Given the description of an element on the screen output the (x, y) to click on. 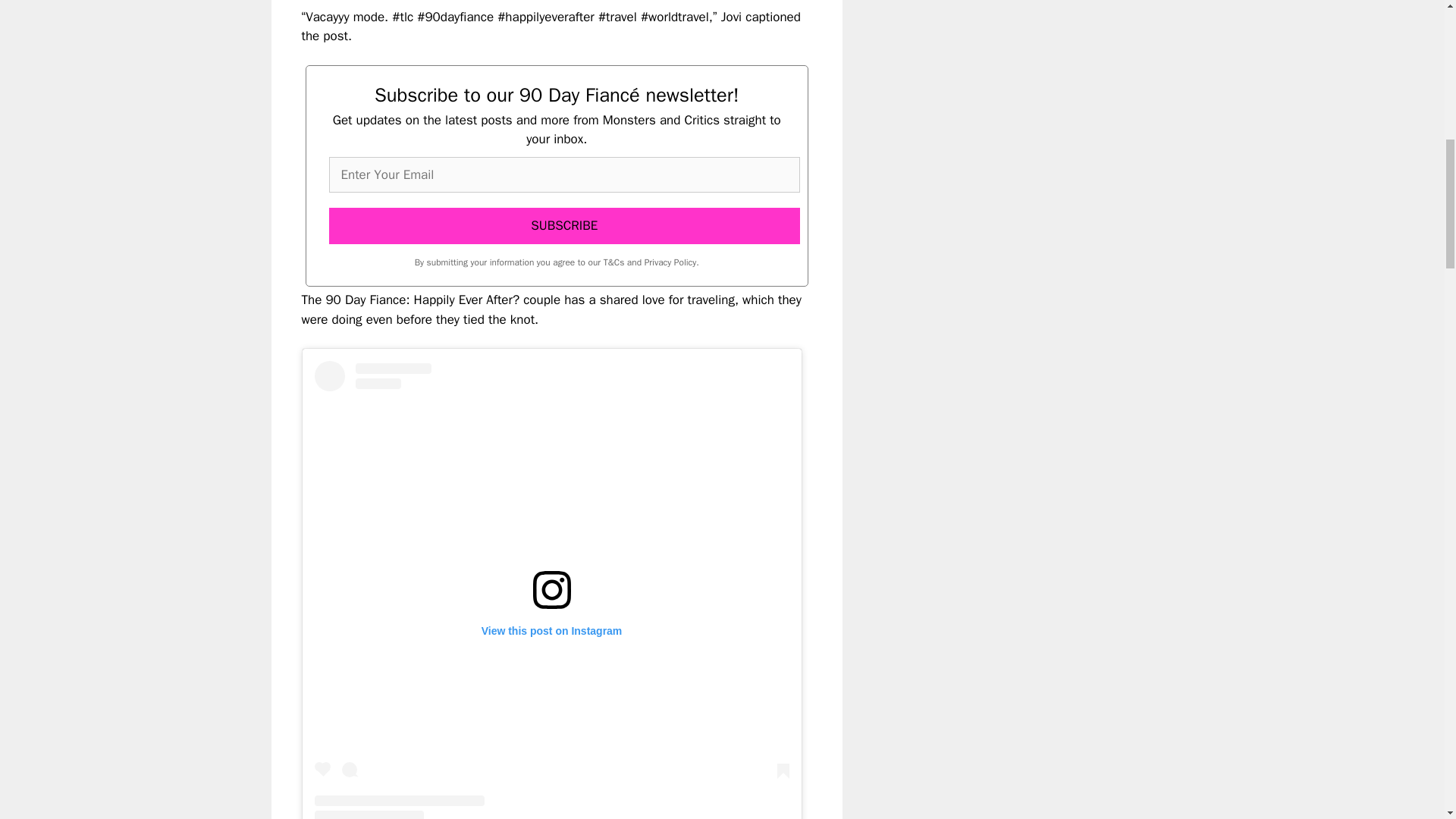
SUBSCRIBE (564, 226)
SUBSCRIBE (564, 226)
